Given the description of an element on the screen output the (x, y) to click on. 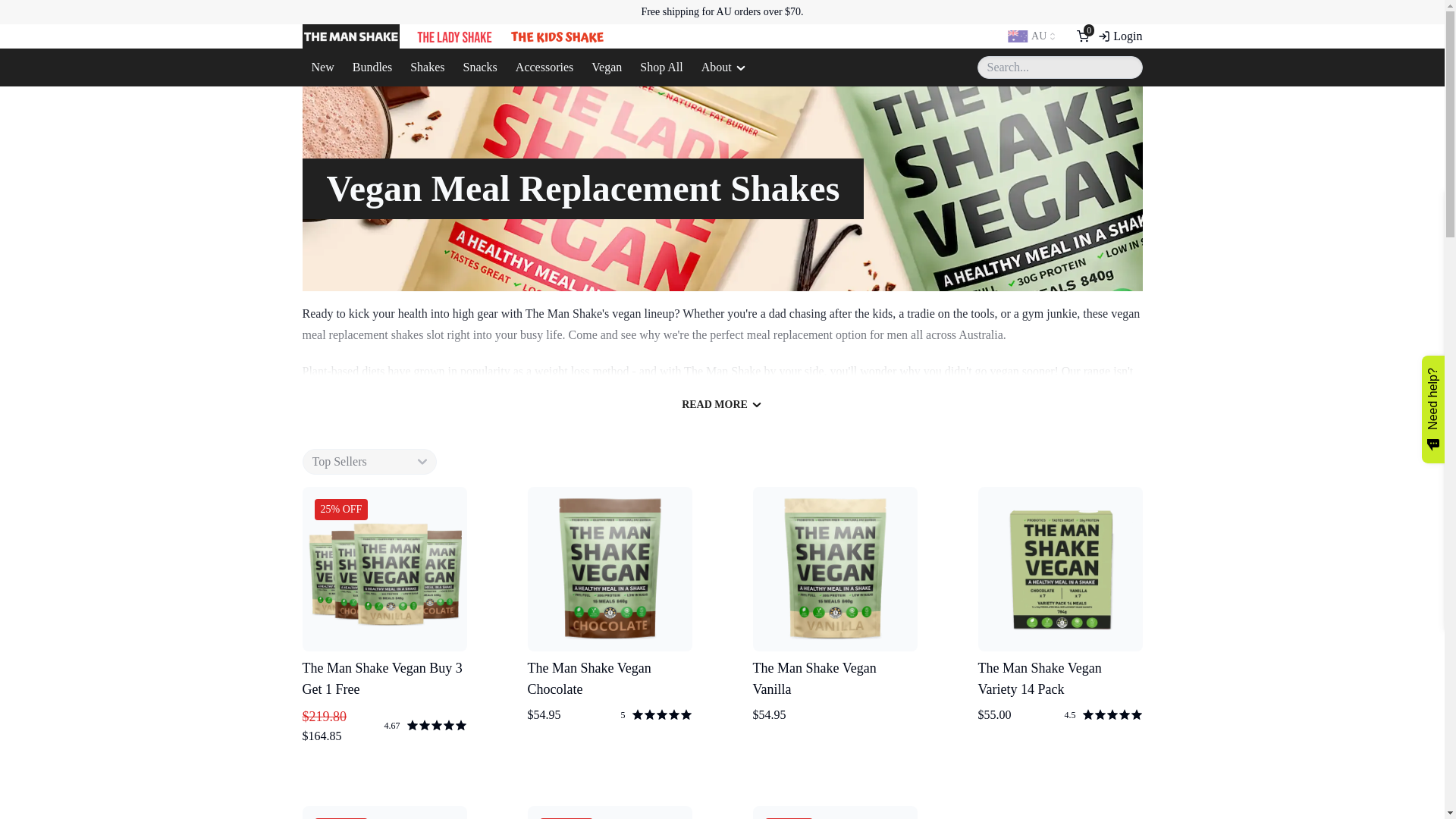
About (724, 67)
Vegan (606, 67)
Login (1119, 36)
Snacks (478, 67)
Shakes (426, 67)
Accessories (544, 67)
New (321, 67)
0 (1083, 36)
Bundles (372, 67)
Shop All (660, 67)
